Given the description of an element on the screen output the (x, y) to click on. 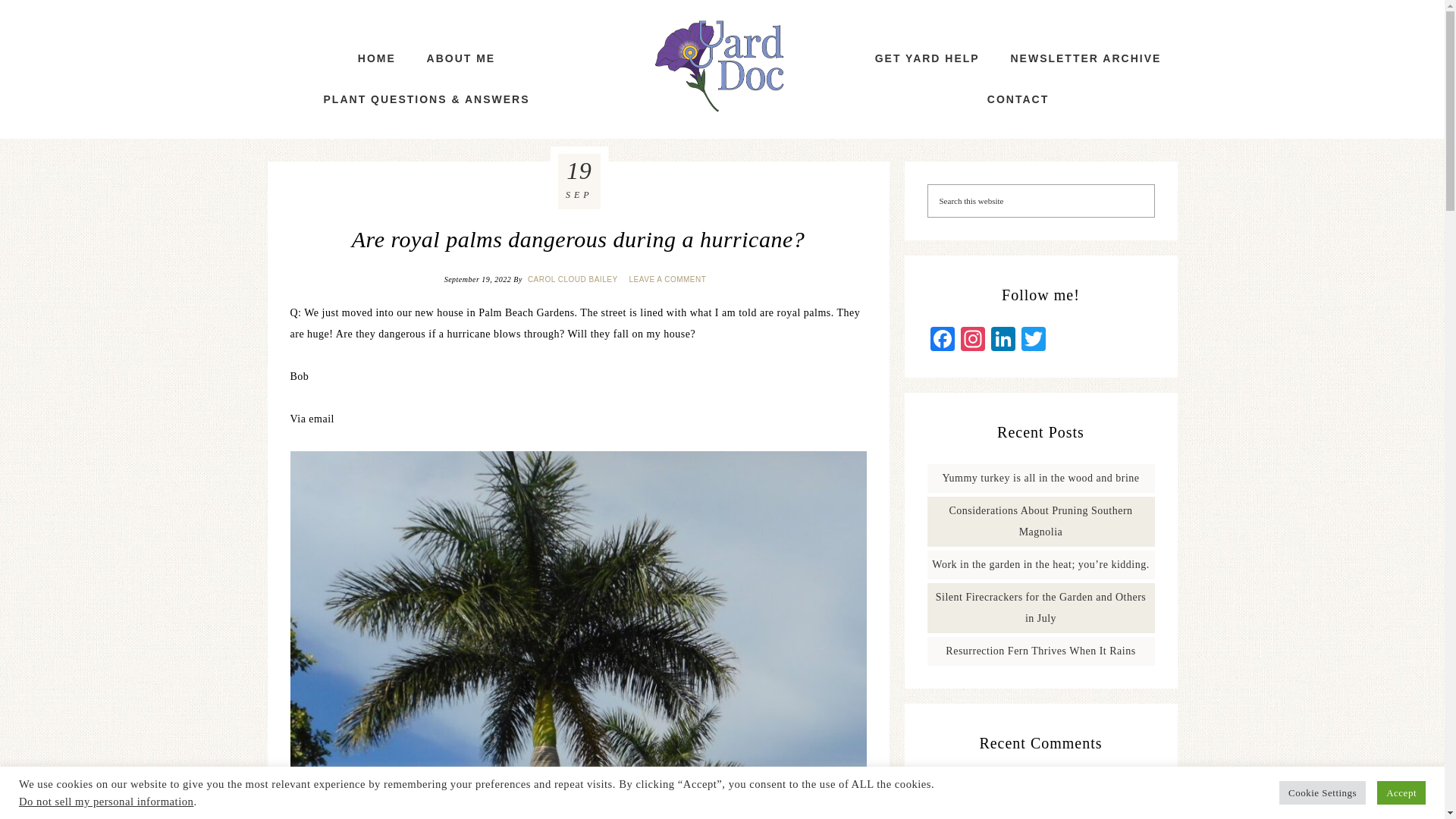
NEWSLETTER ARCHIVE (1084, 57)
Considerations About Pruning Southern Magnolia (1040, 521)
CAROL CLOUD BAILEY (574, 279)
LEAVE A COMMENT (669, 279)
LinkedIn (1002, 340)
LinkedIn (1002, 340)
ABOUT ME (461, 57)
Facebook (941, 340)
Instagram (971, 340)
HOME (376, 57)
Yummy turkey is all in the wood and brine (1040, 478)
Twitter (1032, 340)
Facebook (941, 340)
